Given the description of an element on the screen output the (x, y) to click on. 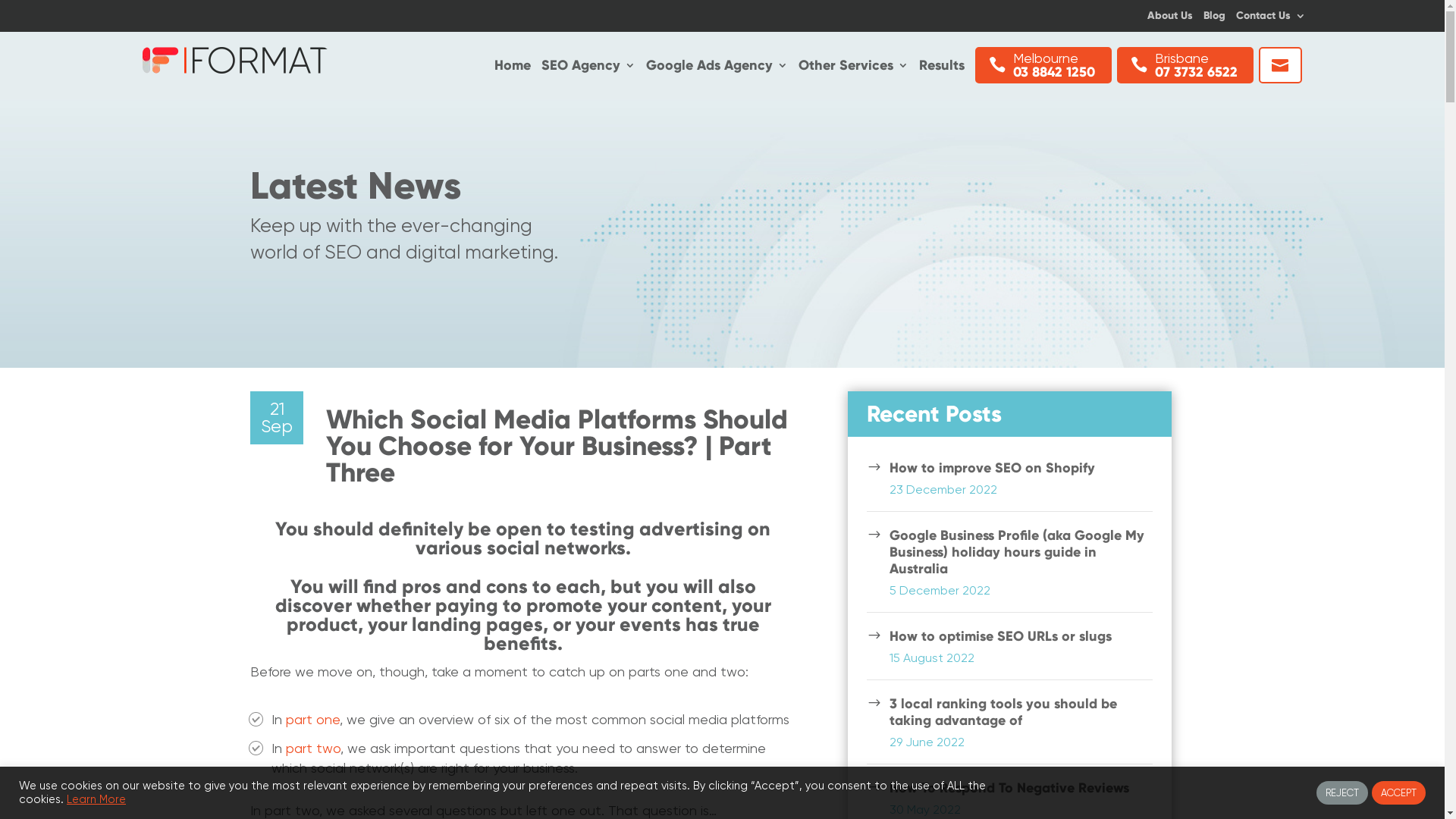
Home Element type: text (512, 67)
Enquire now Element type: text (1279, 65)
Results Element type: text (941, 67)
Learn More Element type: text (95, 799)
Google Ads Agency Element type: text (716, 67)
SEO Agency Element type: text (588, 67)
ACCEPT Element type: text (1398, 792)
REJECT Element type: text (1342, 792)
How to optimise SEO URLs or slugs Element type: text (1000, 635)
Other Services Element type: text (853, 67)
part one Element type: text (312, 719)
About Us Element type: text (1169, 18)
Contact Us Element type: text (1270, 18)
How to improve SEO on Shopify Element type: text (992, 467)
part two Element type: text (312, 748)
Brisbane
07 3732 6522 Element type: text (1185, 65)
How To Respond To Negative Reviews Element type: text (1009, 787)
3 local ranking tools you should be taking advantage of Element type: text (1003, 711)
Melbourne
03 8842 1250 Element type: text (1043, 65)
Blog Element type: text (1213, 18)
